Given the description of an element on the screen output the (x, y) to click on. 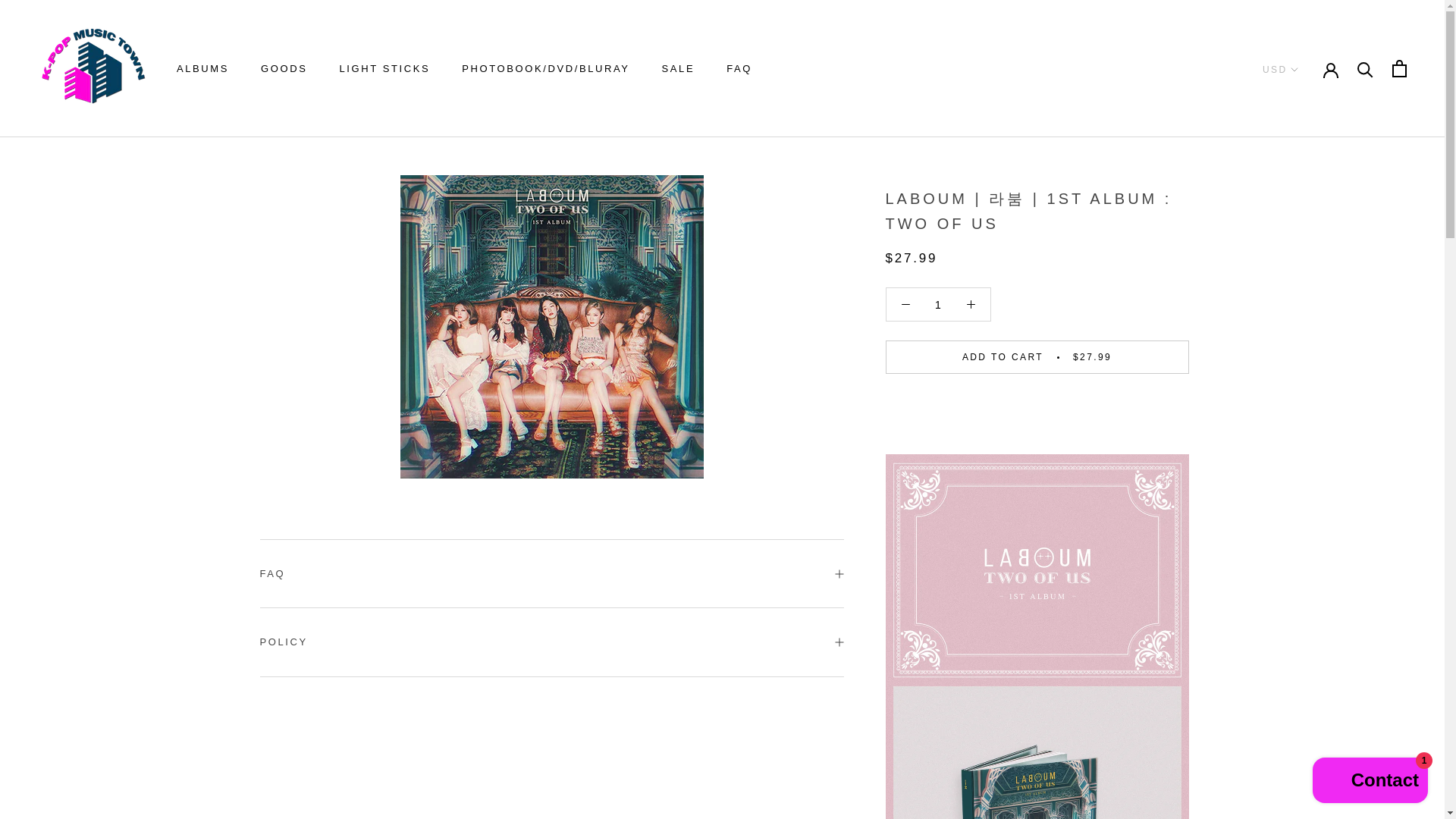
GOODS (283, 68)
FAQ (384, 68)
ALBUMS (739, 68)
1 (202, 68)
Currency selector (678, 68)
Shopify online store chat (938, 304)
